Given the description of an element on the screen output the (x, y) to click on. 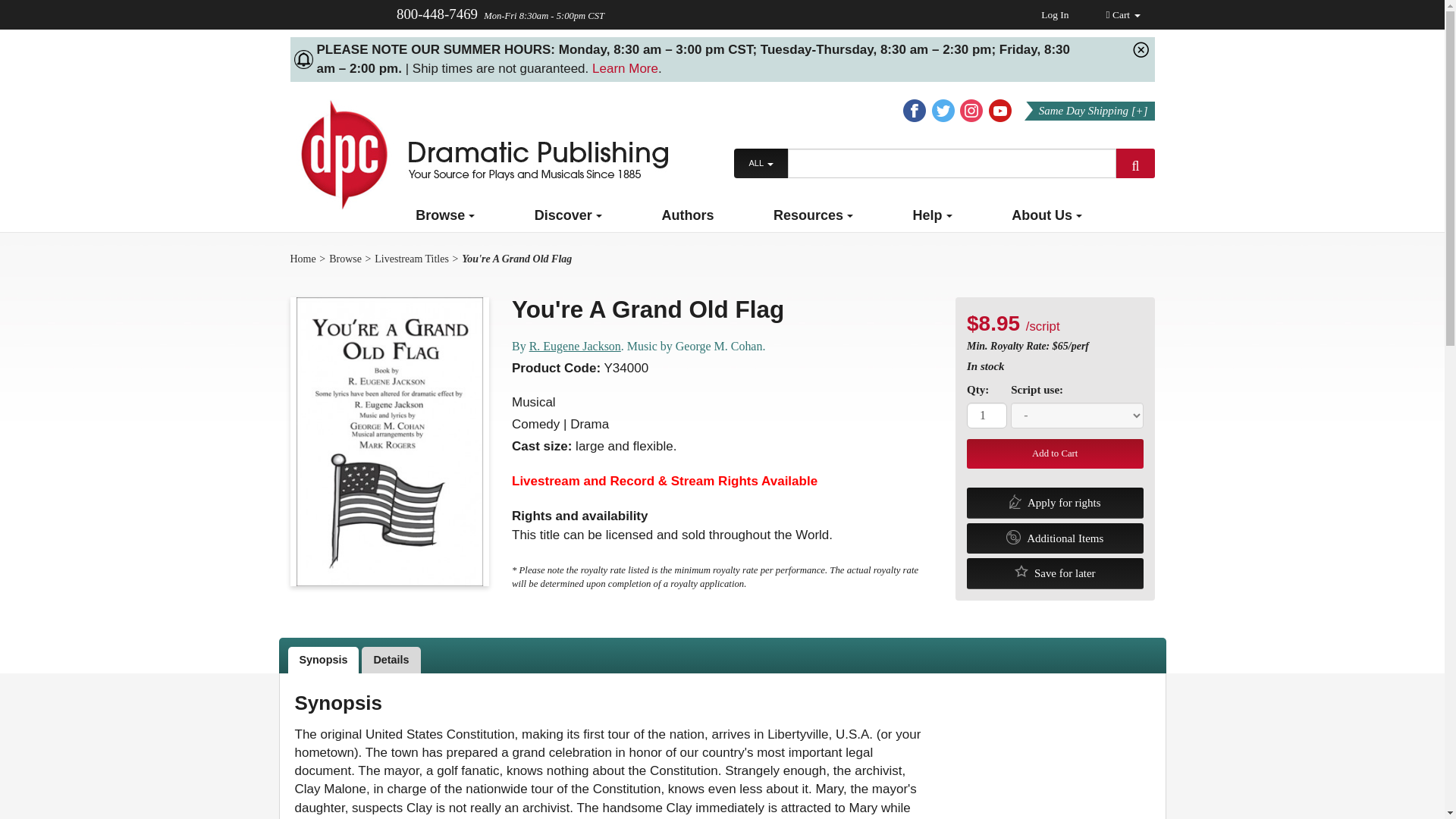
Add to Cart (1054, 453)
Dramatic Publishing (477, 153)
Resources (813, 215)
Discover (722, 655)
Qty (722, 660)
Search (568, 215)
1 (986, 415)
Log In (1135, 163)
